Given the description of an element on the screen output the (x, y) to click on. 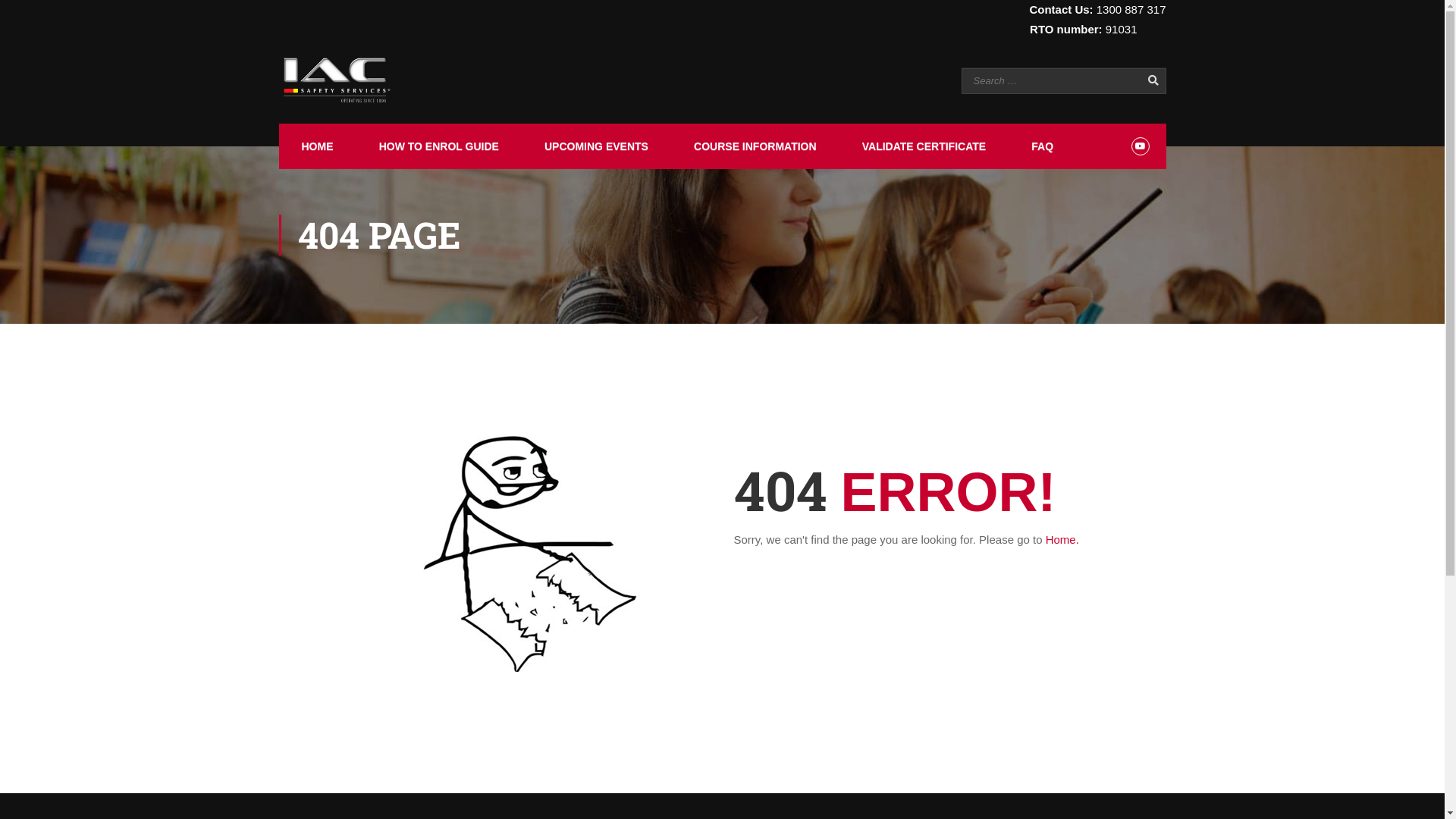
HOME Element type: text (316, 146)
VALIDATE CERTIFICATE Element type: text (922, 146)
COURSE INFORMATION Element type: text (753, 146)
UPCOMING EVENTS Element type: text (594, 146)
Home. Element type: text (1062, 539)
Search Element type: text (1147, 80)
HOW TO ENROL GUIDE Element type: text (437, 146)
FAQ Element type: text (1040, 146)
IAC Safety Services -  Element type: hover (337, 80)
